Given the description of an element on the screen output the (x, y) to click on. 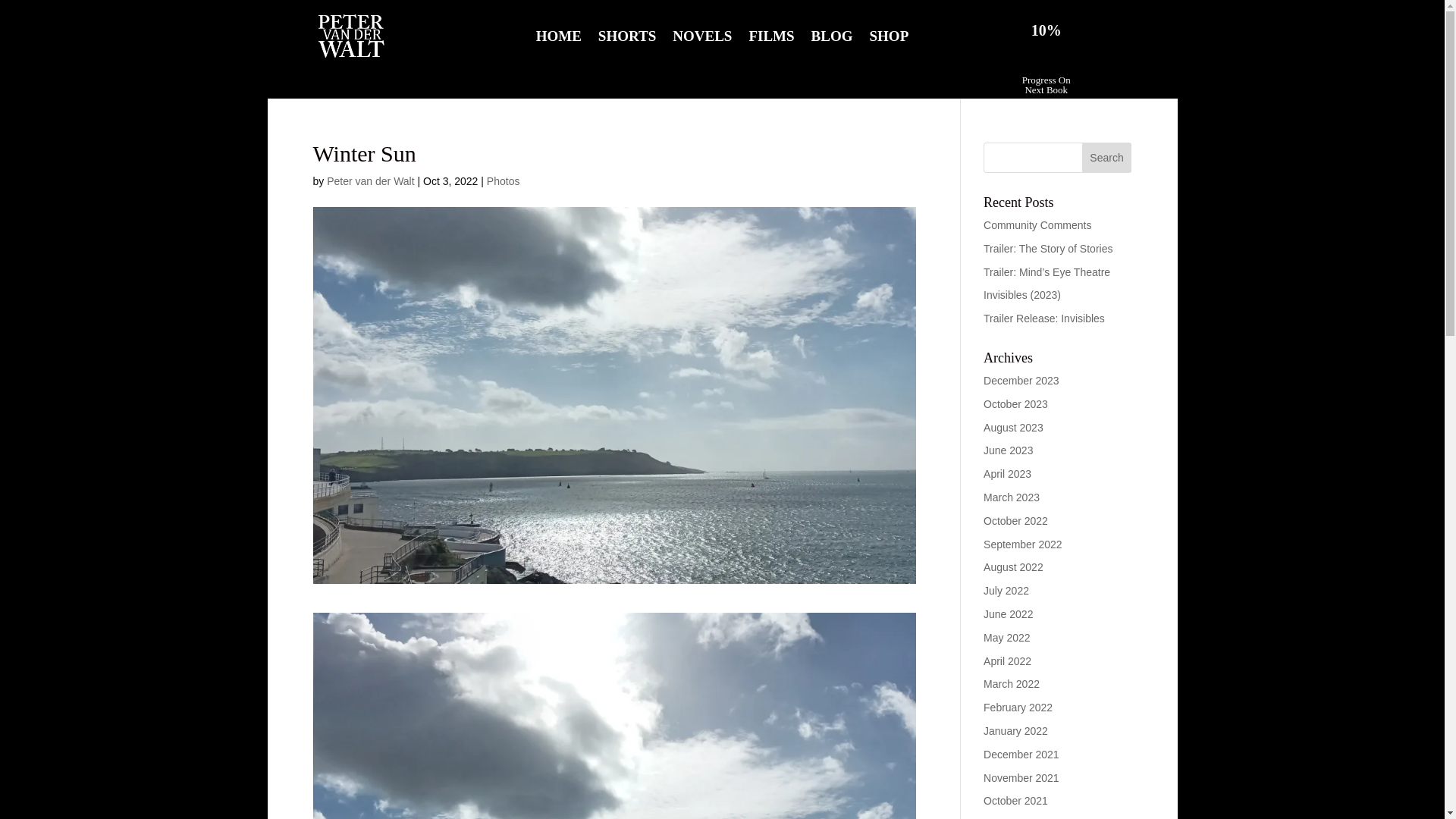
Photos (502, 181)
Peter van der Walt (369, 181)
January 2022 (1016, 730)
HOME (557, 39)
April 2023 (1007, 473)
FILMS (770, 39)
October 2021 (1016, 800)
December 2021 (1021, 754)
August 2022 (1013, 567)
Posts by Peter van der Walt (369, 181)
August 2023 (1013, 427)
SHOP (888, 39)
September 2022 (1023, 544)
November 2021 (1021, 777)
Trailer: The Story of Stories (1048, 248)
